Given the description of an element on the screen output the (x, y) to click on. 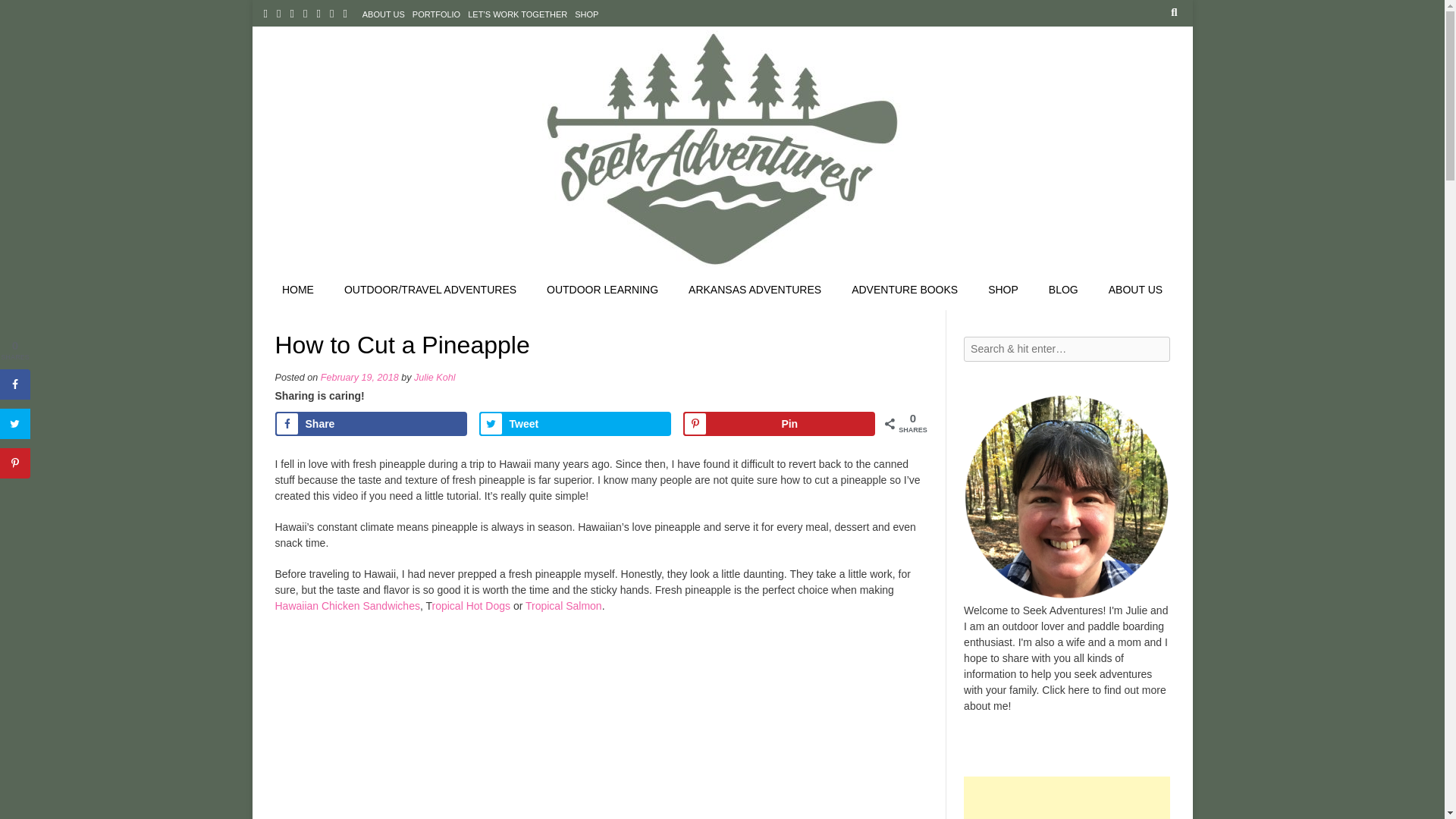
ADVENTURE BOOKS (903, 290)
OUTDOOR LEARNING (601, 290)
Share on Facebook (370, 423)
PORTFOLIO (436, 14)
Share on Twitter (575, 423)
SHOP (586, 14)
SHOP (1002, 290)
Seek Adventures Blog (721, 148)
HOME (297, 290)
Save to Pinterest (778, 423)
